Given the description of an element on the screen output the (x, y) to click on. 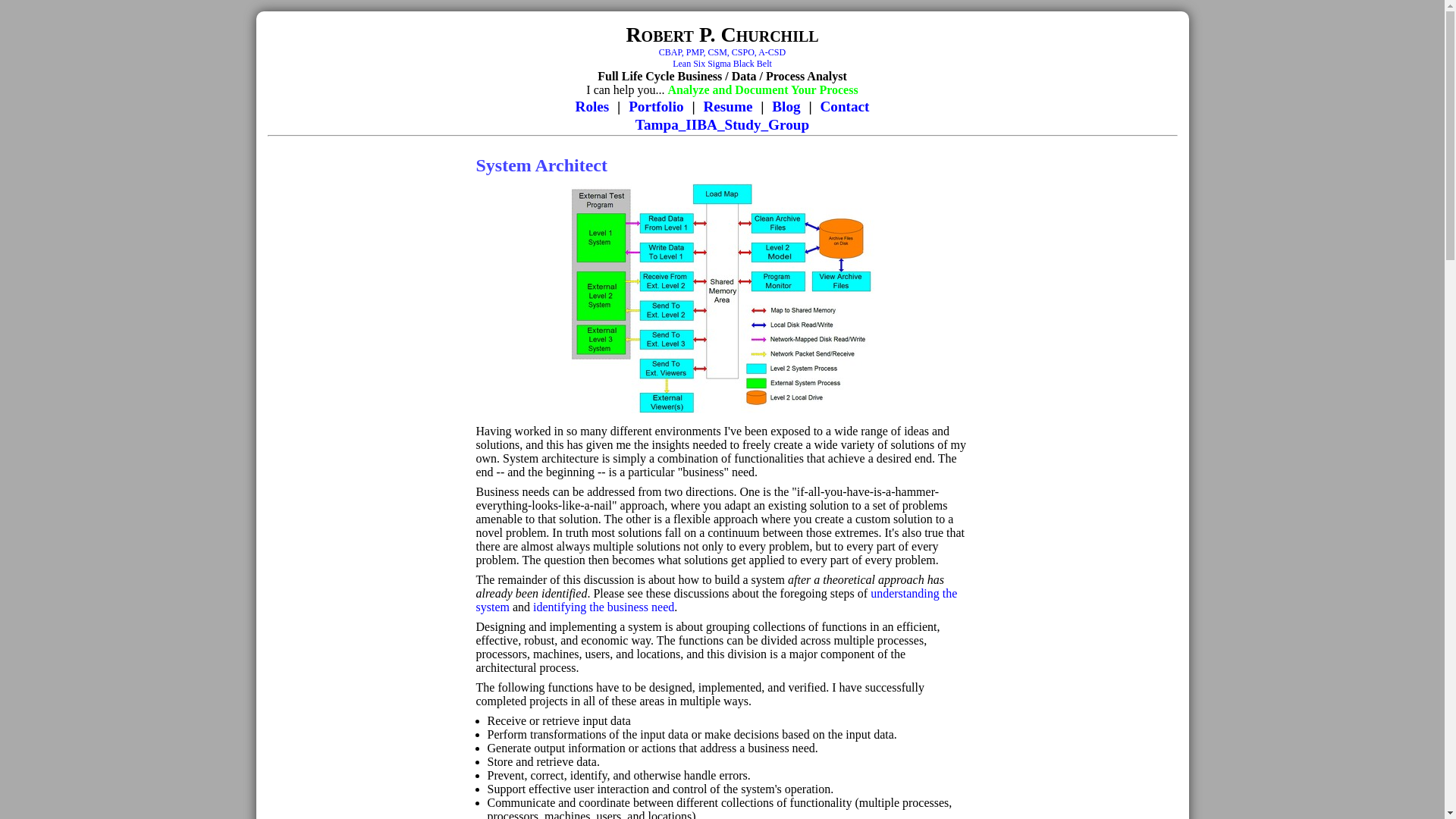
Resume (727, 106)
Blog (786, 106)
Portfolio (655, 106)
understanding the system (717, 600)
Robert P. Churchill (722, 57)
Contact (722, 33)
Roles (844, 106)
identifying the business need (592, 106)
